Given the description of an element on the screen output the (x, y) to click on. 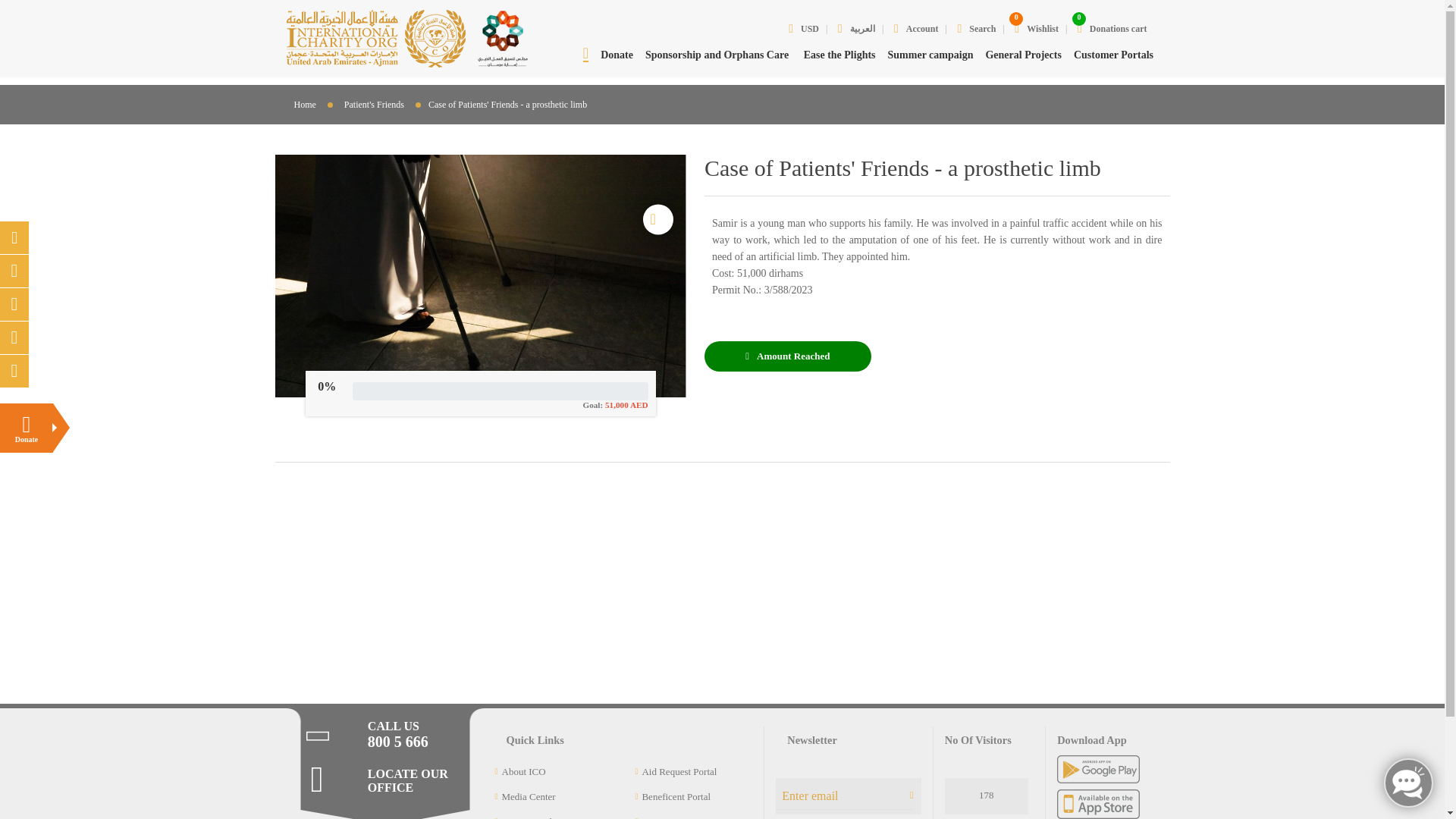
Sponsorship and Orphans Care (718, 55)
Account (916, 28)
Zakat Calculator (14, 270)
USD (803, 28)
Whatsup (14, 370)
Search (975, 28)
Donate (26, 428)
Donate (616, 55)
Donate (1112, 28)
Web tour (26, 428)
Contact us (1036, 28)
